Given the description of an element on the screen output the (x, y) to click on. 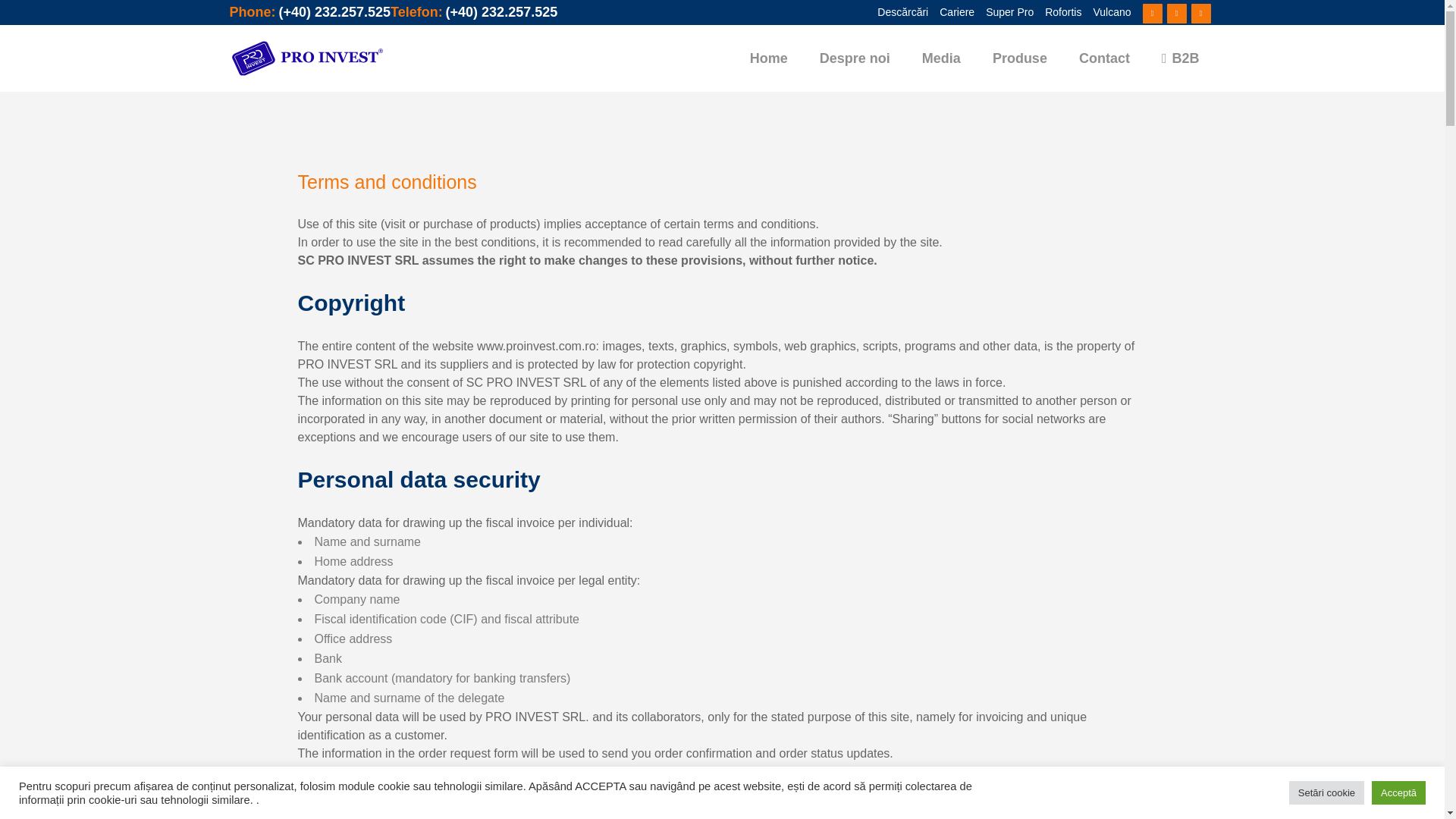
B2B (1180, 58)
Media (940, 58)
Vulcano (1106, 12)
Home (768, 58)
Rofortis (1057, 12)
Produse (1019, 58)
Super Pro (1003, 12)
Cariere (951, 12)
Despre noi (854, 58)
Contact (1103, 58)
